Given the description of an element on the screen output the (x, y) to click on. 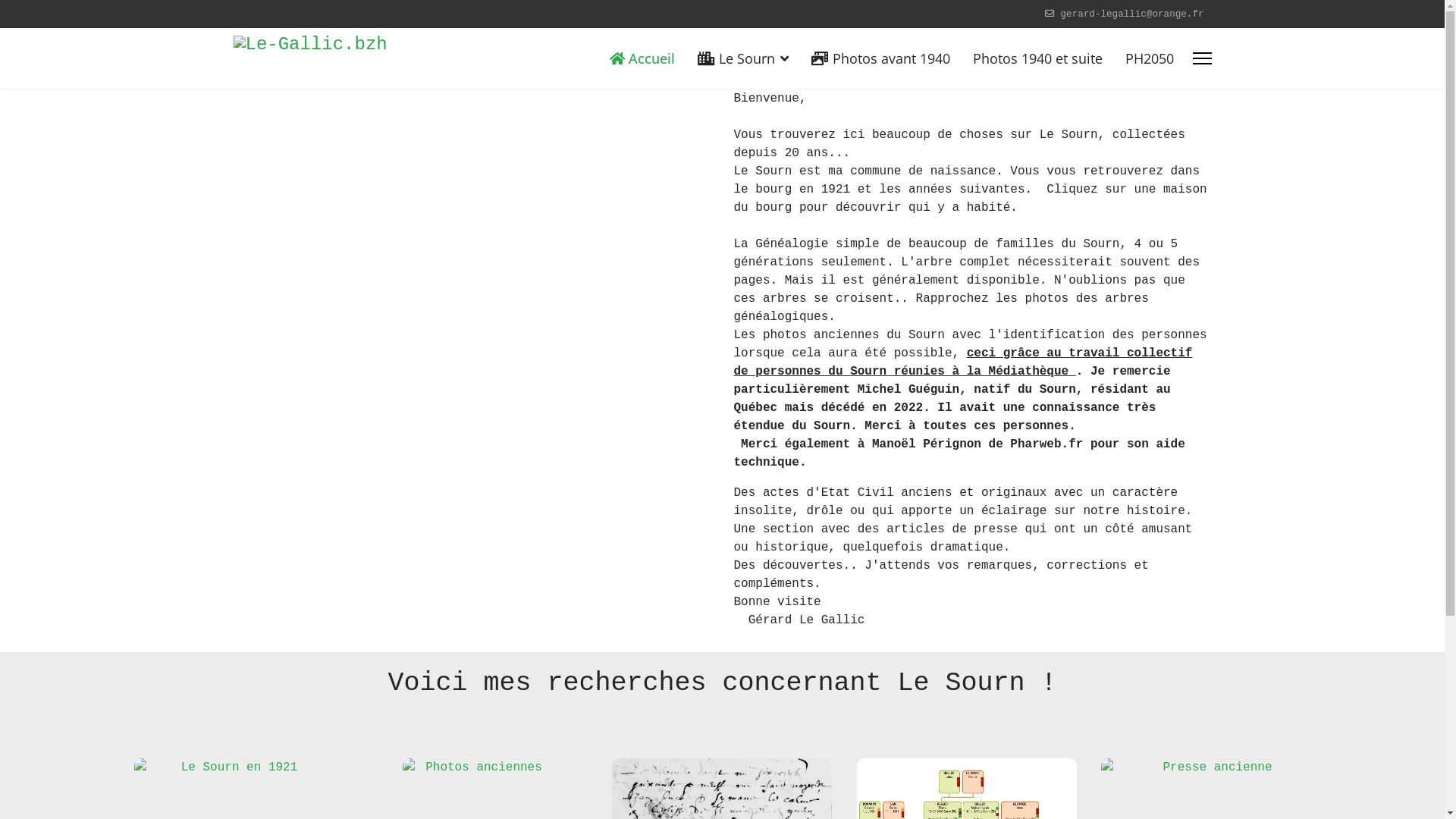
Photos 1940 et suite Element type: text (1037, 58)
Menu Element type: hover (1201, 58)
Accueil Element type: text (641, 58)
Photos avant 1940 Element type: text (879, 58)
PH2050 Element type: text (1143, 58)
gerard-legallic@orange.fr Element type: text (1132, 14)
